Given the description of an element on the screen output the (x, y) to click on. 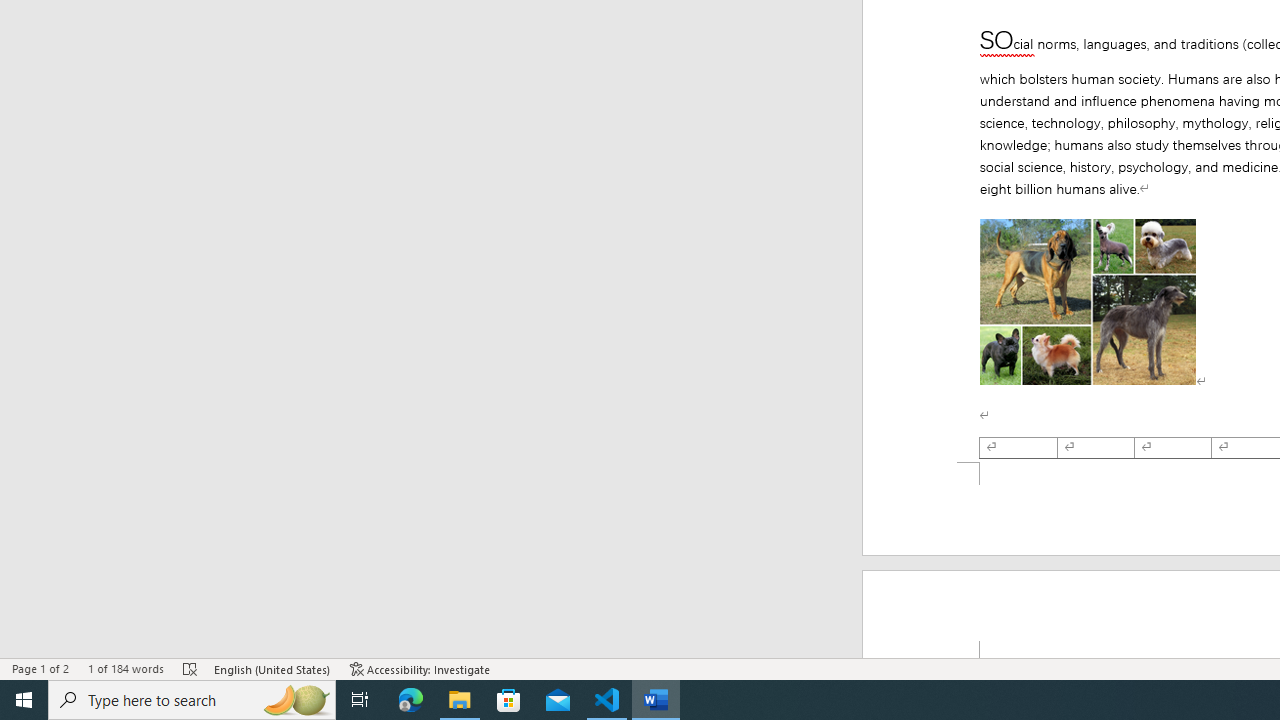
Page Number Page 1 of 2 (39, 668)
Spelling and Grammar Check Errors (191, 668)
Accessibility Checker Accessibility: Investigate (420, 668)
Language English (United States) (273, 668)
Morphological variation in six dogs (1087, 301)
